Given the description of an element on the screen output the (x, y) to click on. 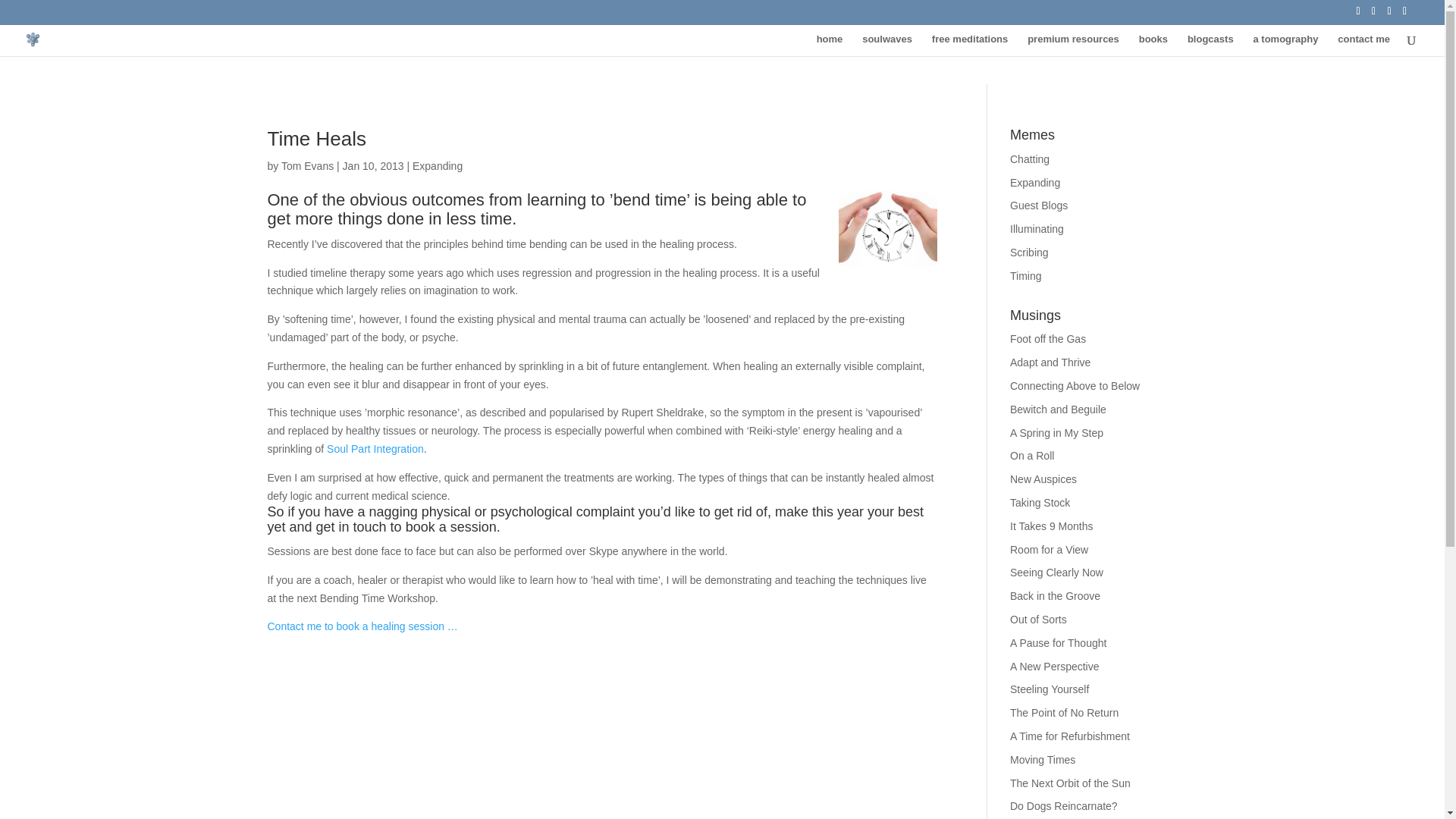
Connecting Above to Below (1075, 386)
Soul Part Integration (374, 449)
Illuminating (1037, 228)
Tom Evans (307, 165)
Room for a View (1048, 549)
Posts by Tom Evans (307, 165)
Time Heals (316, 138)
Back in the Groove (1055, 595)
Foot off the Gas (1048, 338)
Adapt and Thrive (1050, 362)
